Given the description of an element on the screen output the (x, y) to click on. 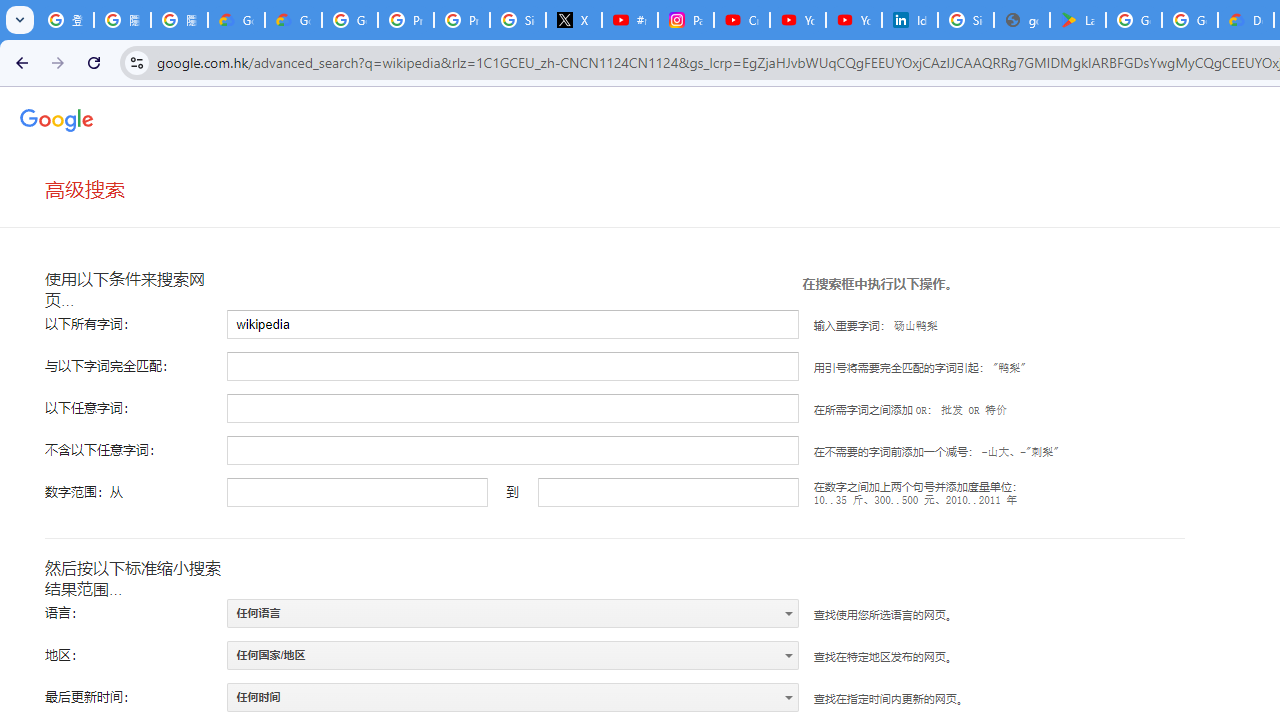
X (573, 20)
google_privacy_policy_en.pdf (1021, 20)
